Given the description of an element on the screen output the (x, y) to click on. 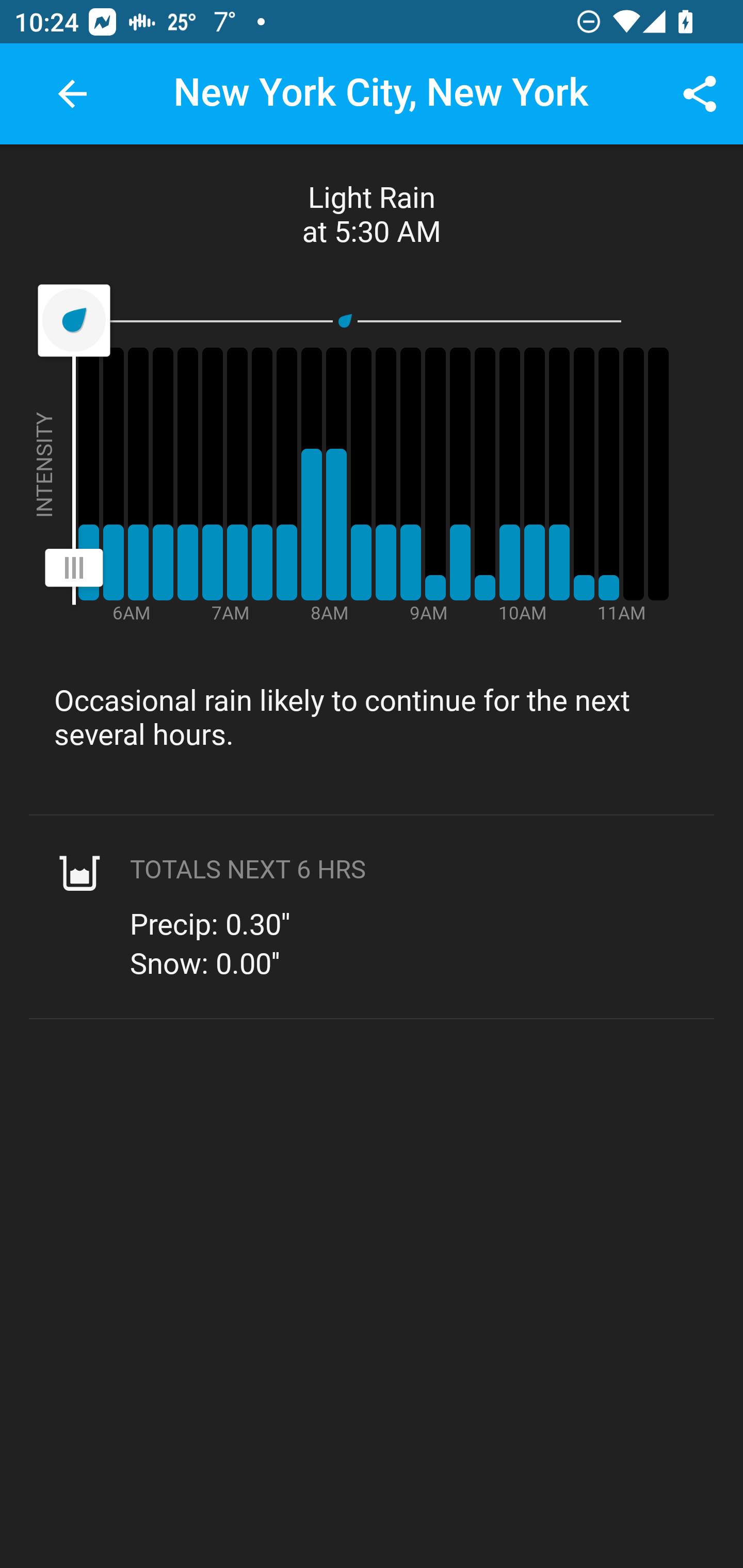
back (71, 93)
Share (699, 93)
